Given the description of an element on the screen output the (x, y) to click on. 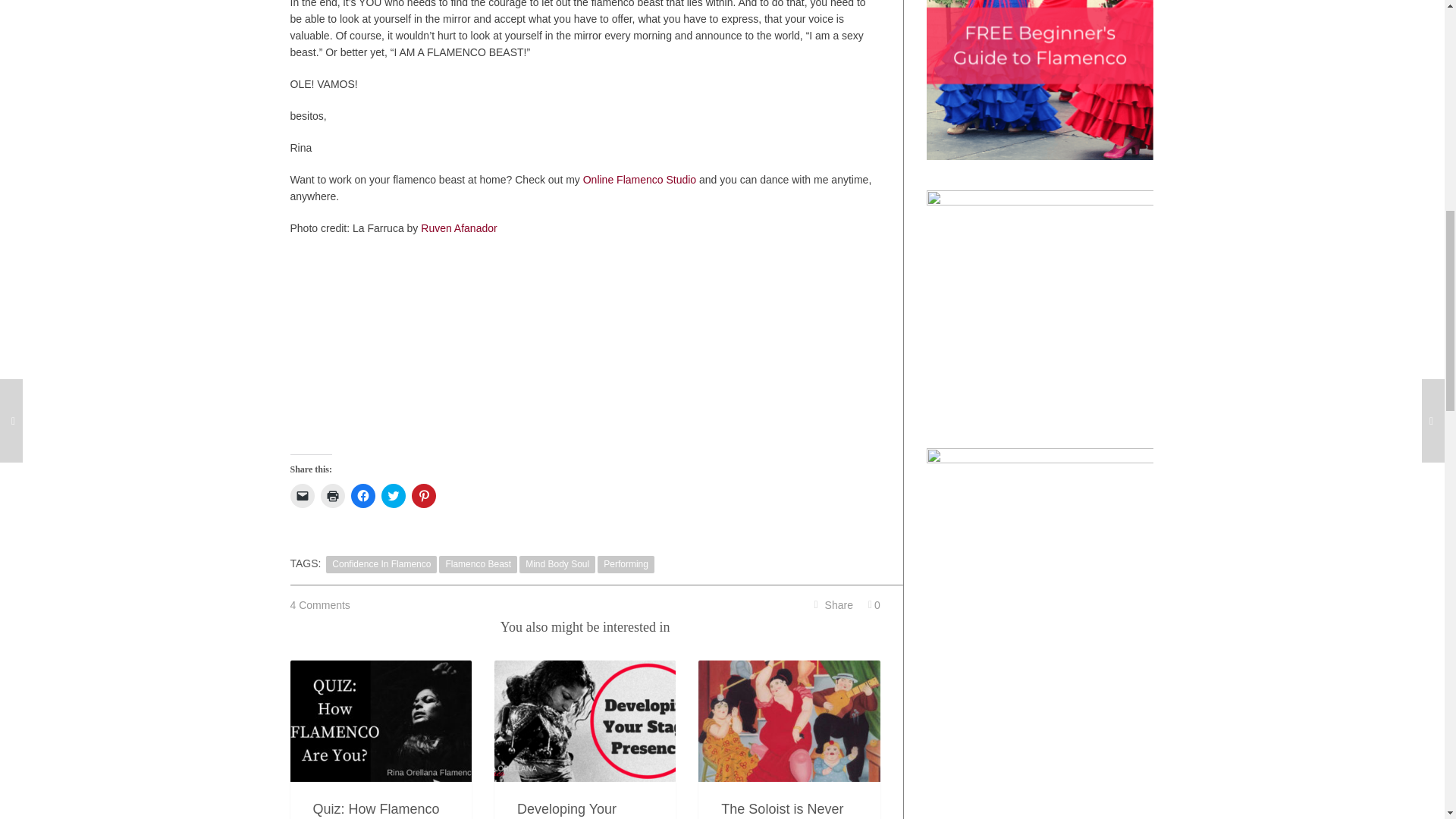
Click to share on Twitter (392, 495)
Click to share on Facebook (362, 495)
Click to print (331, 495)
Click to email a link to a friend (301, 495)
Click to share on Pinterest (422, 495)
4 Comments (319, 605)
